Given the description of an element on the screen output the (x, y) to click on. 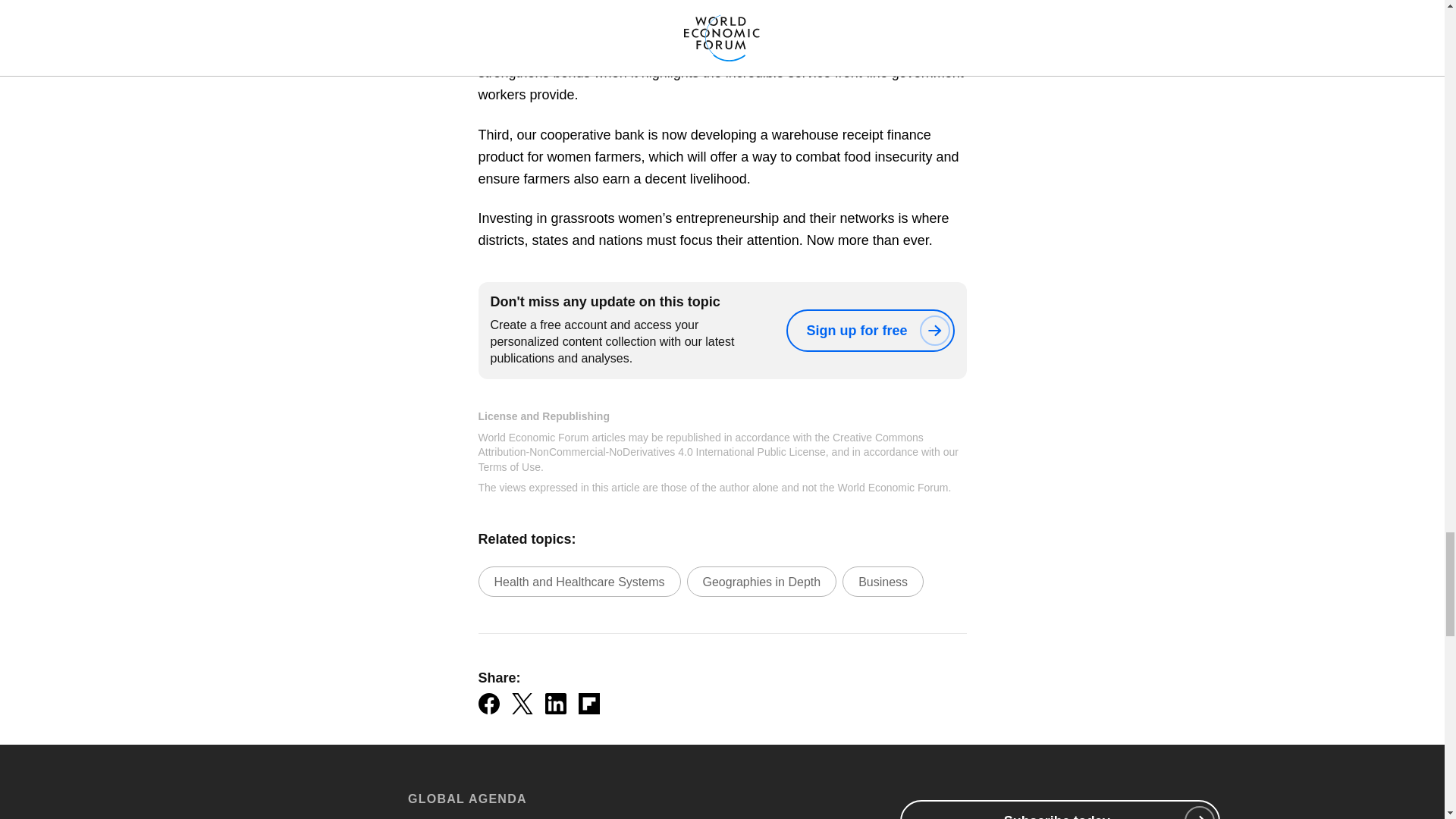
Business (883, 581)
Subscribe today (1059, 809)
Sign up for free (869, 330)
Health and Healthcare Systems (578, 581)
Geographies in Depth (762, 581)
